Given the description of an element on the screen output the (x, y) to click on. 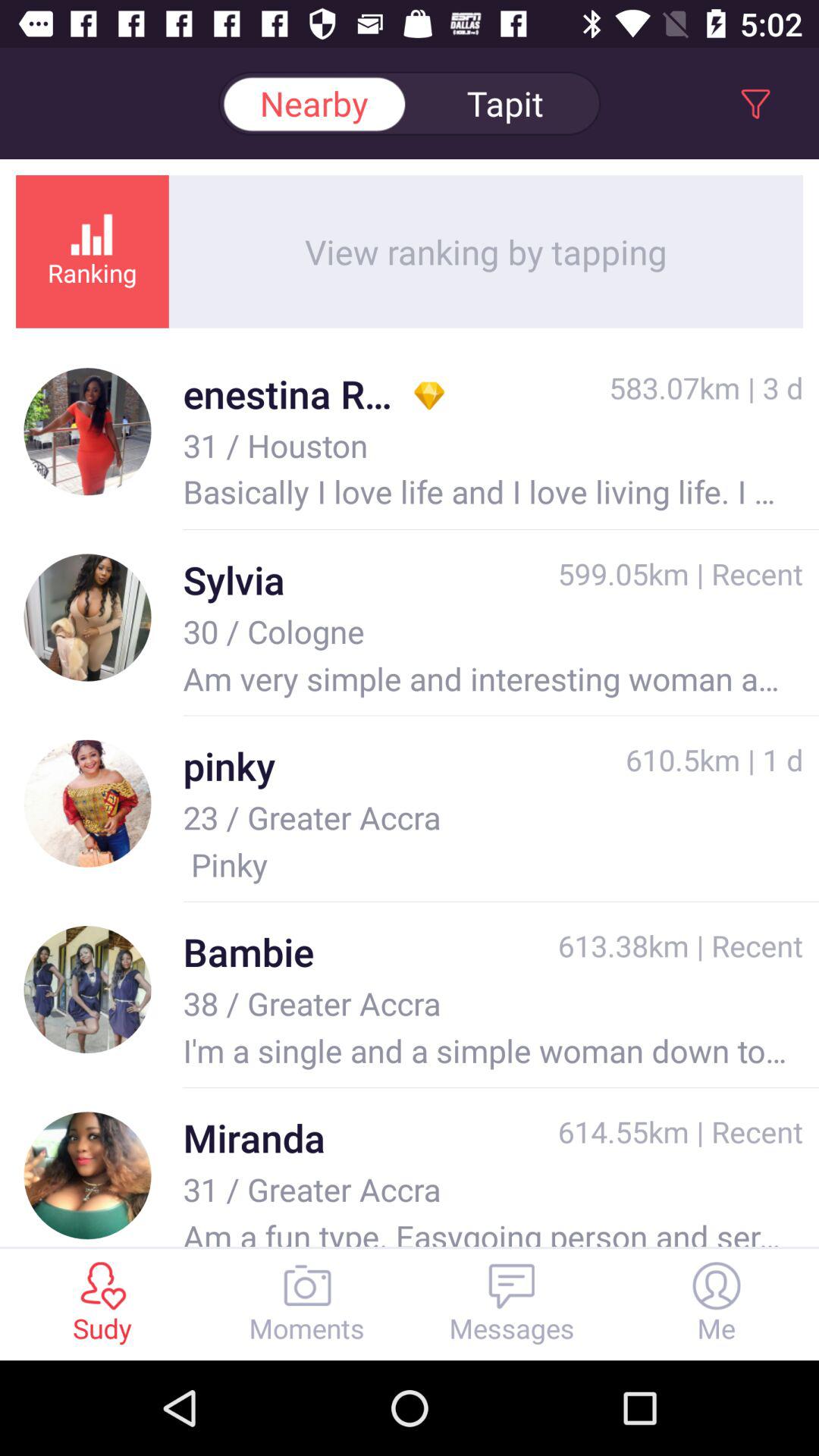
turn on item above view ranking by item (504, 103)
